Given the description of an element on the screen output the (x, y) to click on. 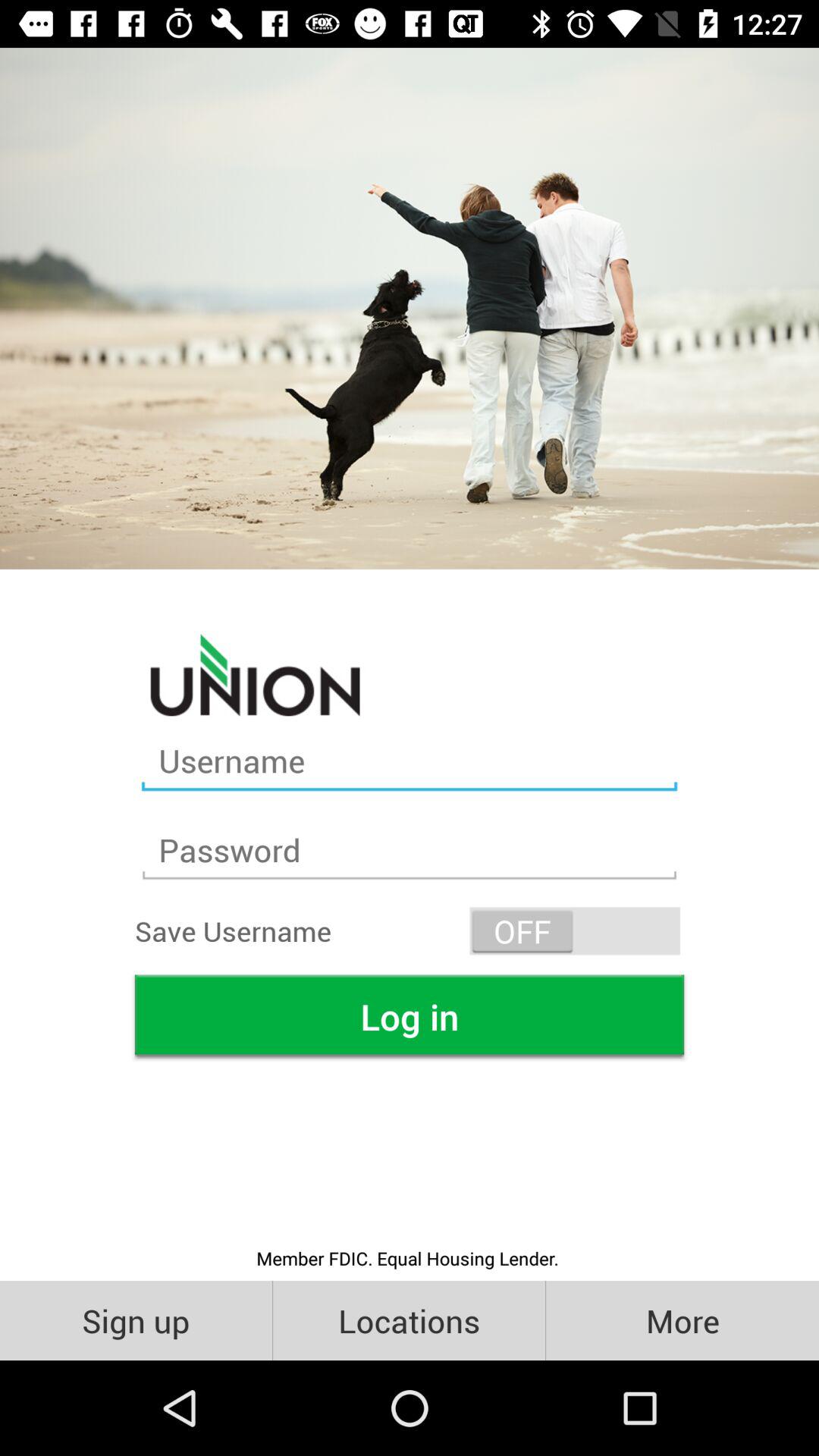
choose the icon below member fdic equal (136, 1320)
